Given the description of an element on the screen output the (x, y) to click on. 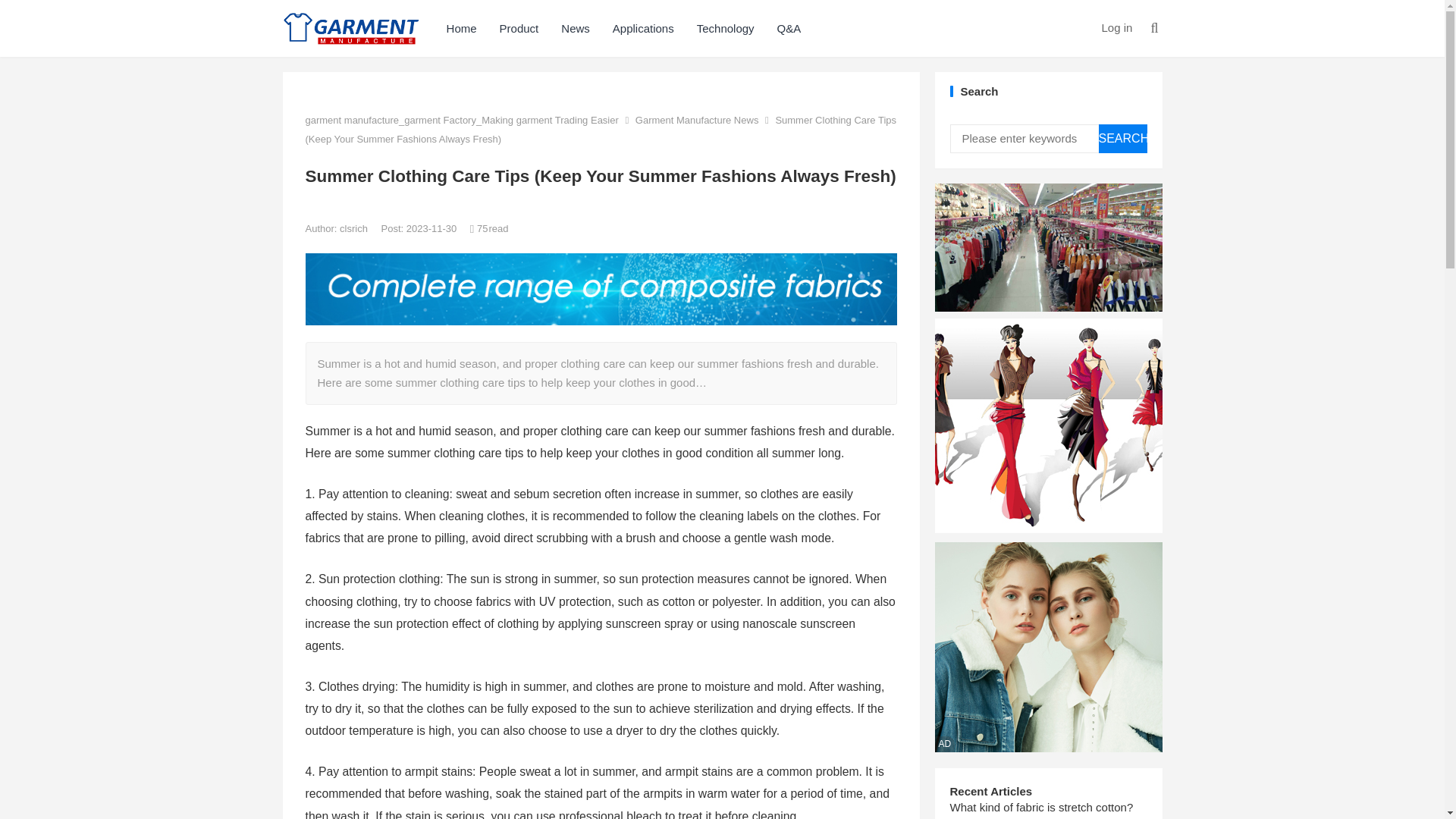
SEARCH (1122, 138)
Home (461, 28)
Log in (1116, 27)
Technology (725, 28)
clsrich (354, 228)
News (575, 28)
Product (518, 28)
Log in (1116, 27)
Garment Manufacture News (696, 119)
Applications (643, 28)
